Given the description of an element on the screen output the (x, y) to click on. 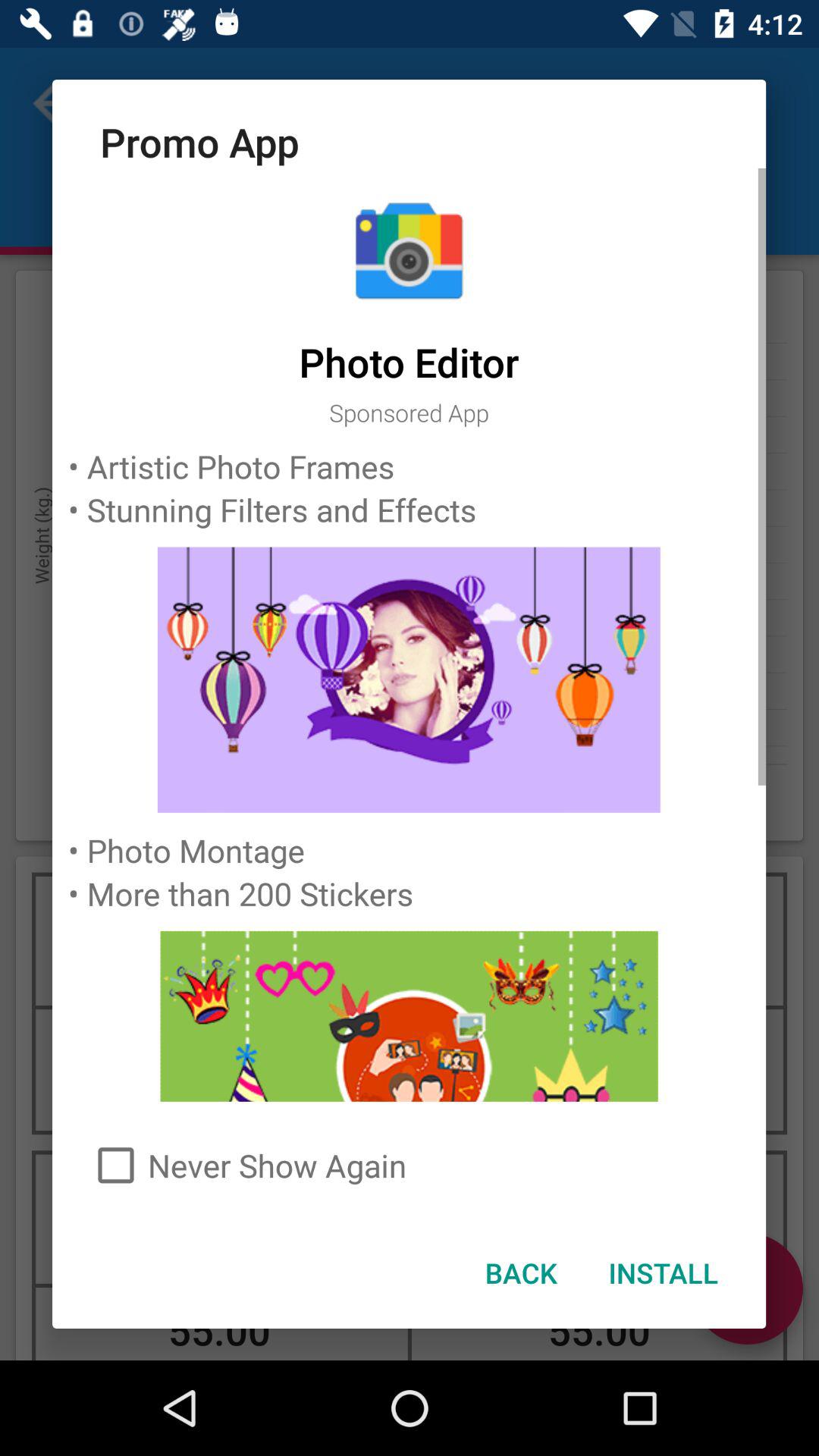
turn on install at the bottom right corner (663, 1272)
